Given the description of an element on the screen output the (x, y) to click on. 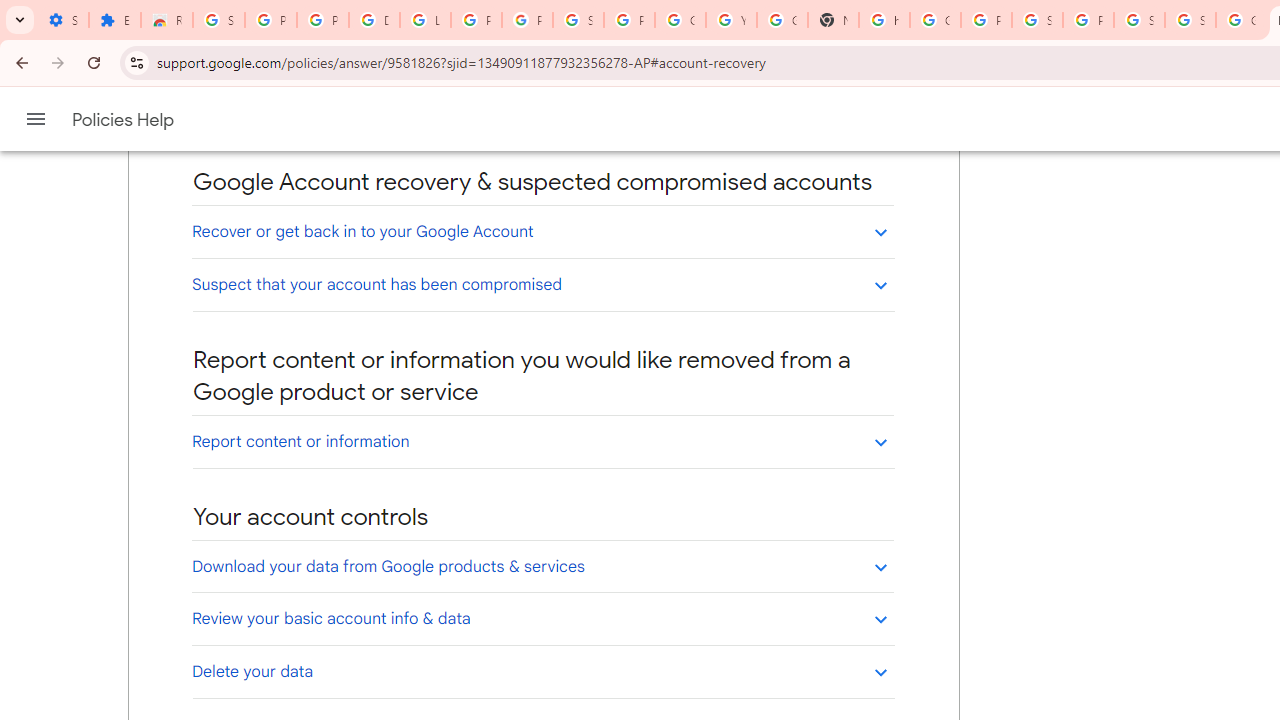
Delete photos & videos - Computer - Google Photos Help (374, 20)
Sign in - Google Accounts (1189, 20)
https://scholar.google.com/ (884, 20)
Learn how to find your photos - Google Photos Help (424, 20)
Download your data from Google products & services (542, 566)
Delete your data (542, 671)
Main menu (35, 119)
Recover or get back in to your Google Account (542, 231)
